Given the description of an element on the screen output the (x, y) to click on. 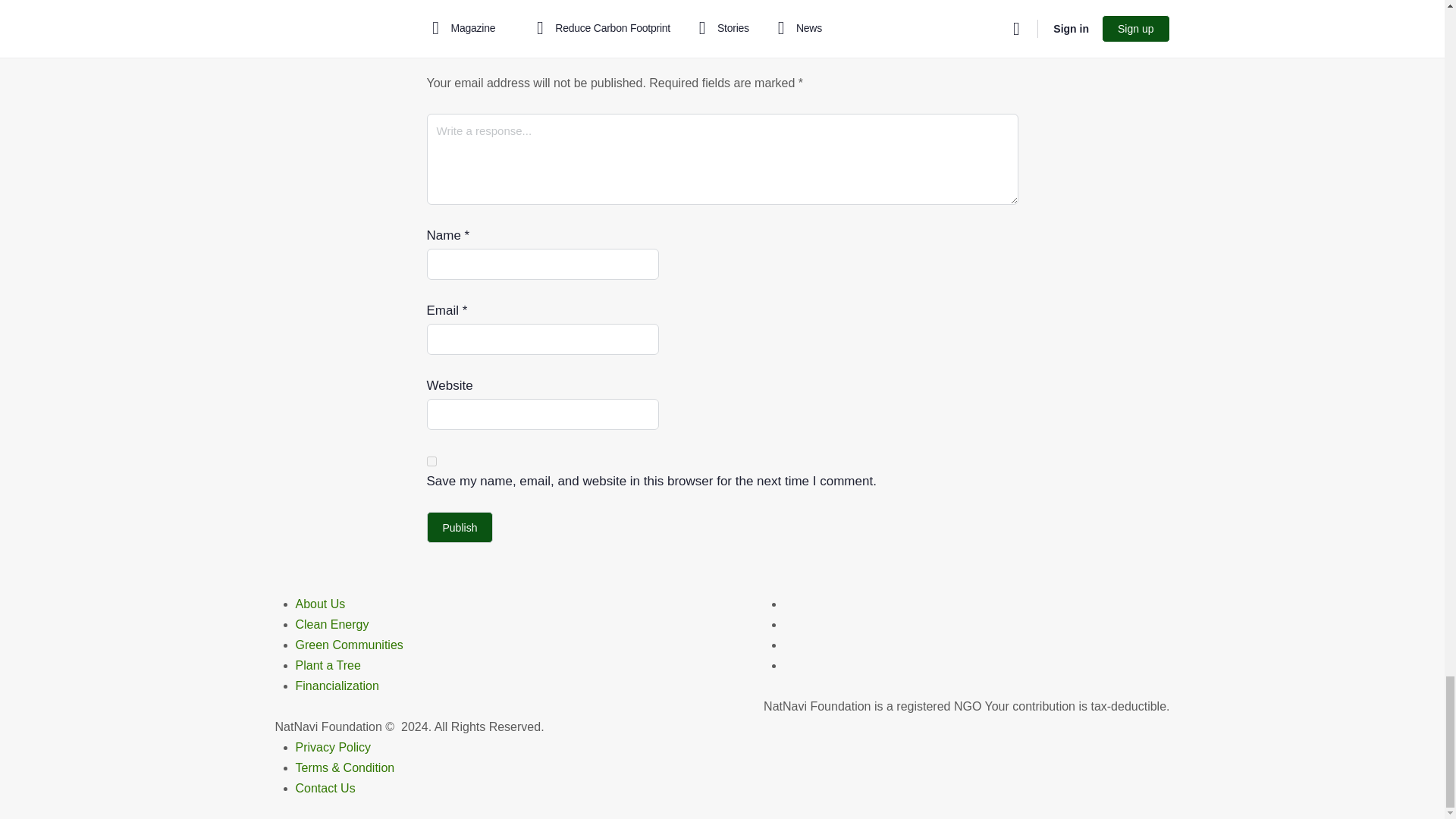
Publish (459, 526)
yes (430, 461)
